Given the description of an element on the screen output the (x, y) to click on. 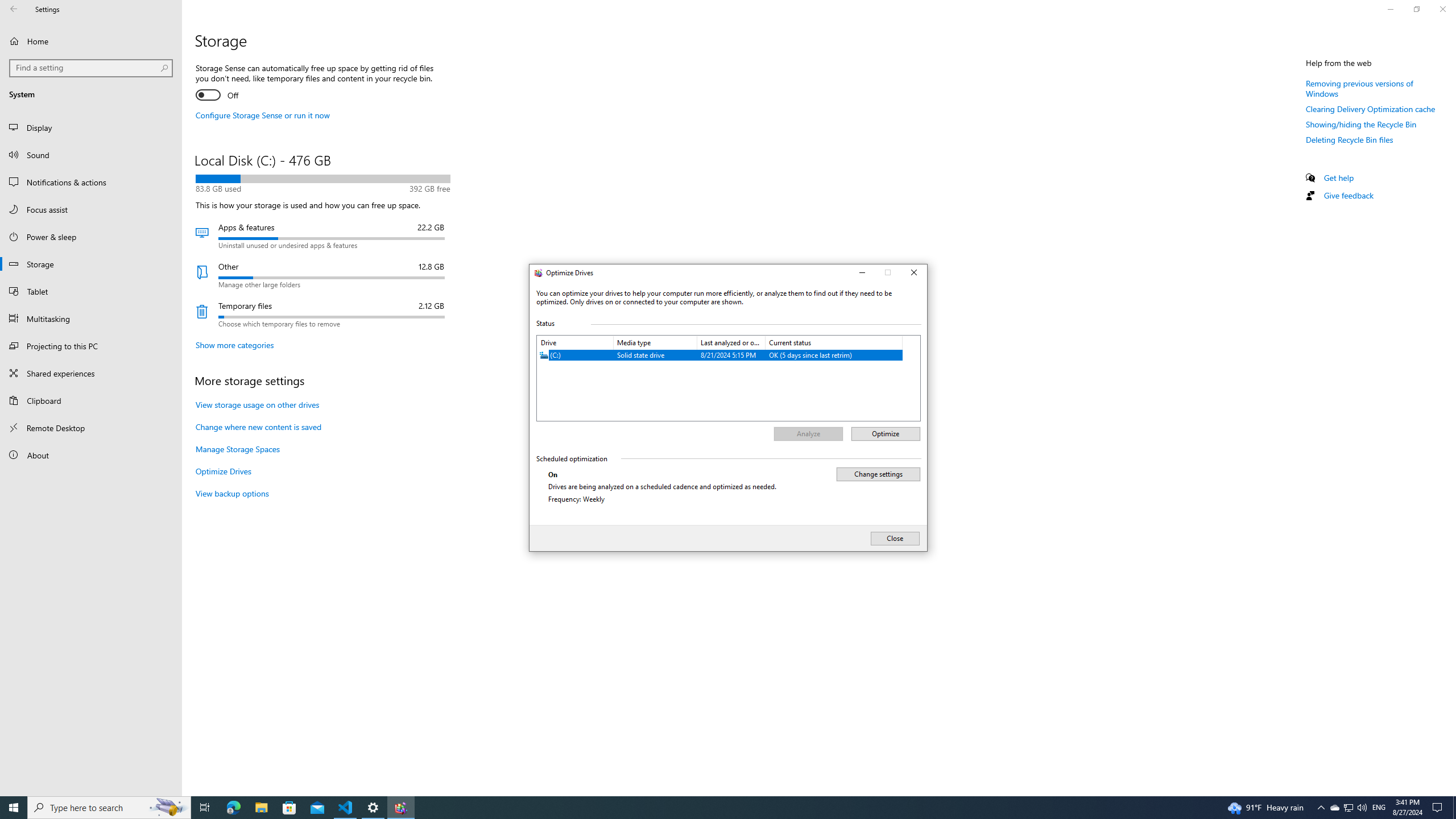
Task View (204, 807)
File Explorer (1333, 807)
Maximize (261, 807)
Settings - 1 running window (888, 272)
Microsoft Edge (373, 807)
Start (233, 807)
Action Center, No new notifications (13, 807)
User Promoted Notification Area (1439, 807)
Running applications (1347, 807)
Q2790: 100% (1347, 807)
Search highlights icon opens search home window (706, 807)
